Given the description of an element on the screen output the (x, y) to click on. 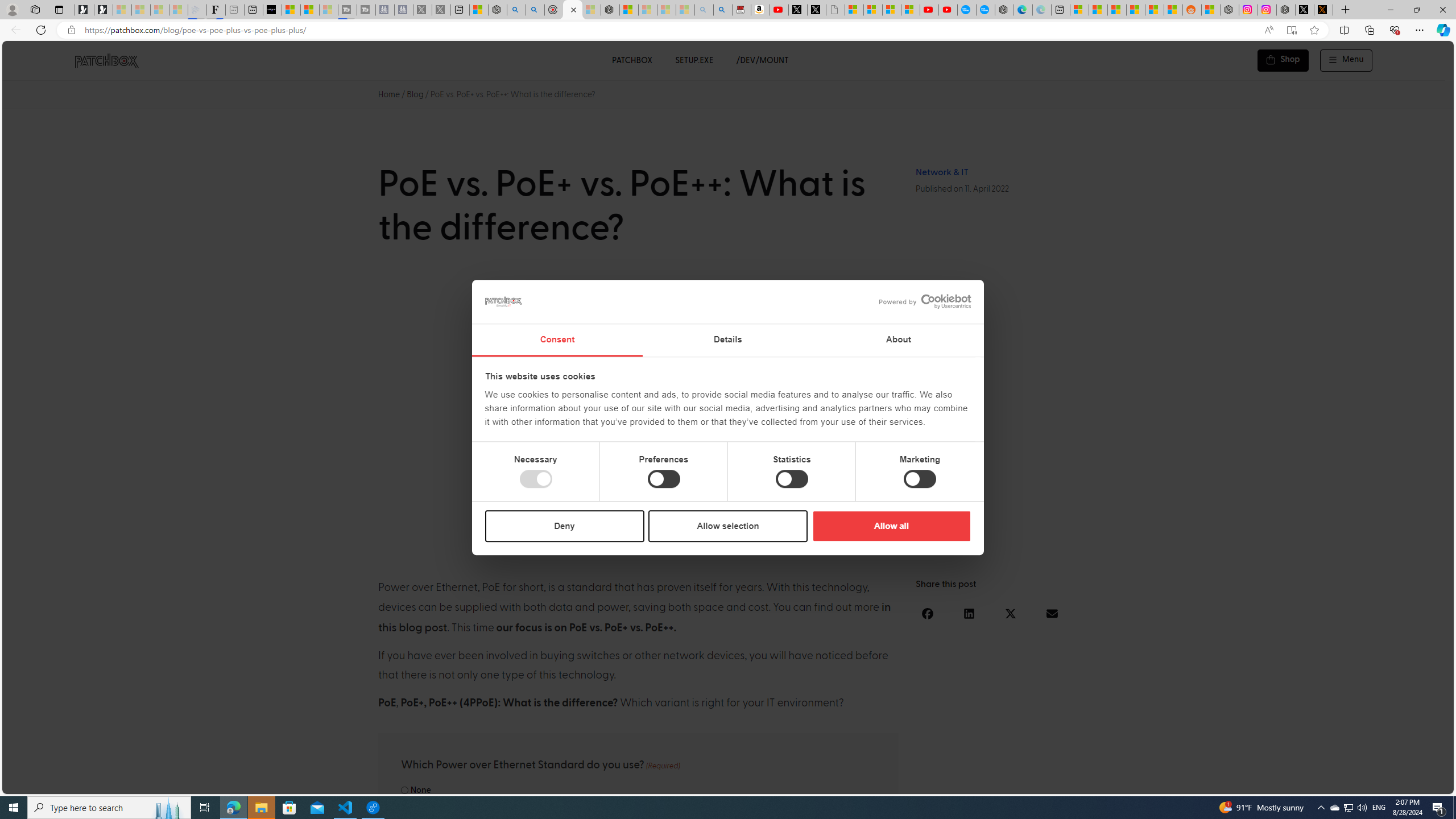
Streaming Coverage | T3 - Sleeping (347, 9)
Allow all (890, 525)
YouTube Kids - An App Created for Kids to Explore Content (947, 9)
/DEV/MOUNT (762, 60)
Language switcher : Norwegian (1288, 782)
Enter Immersive Reader (F9) (1291, 29)
SETUP.EXE (694, 60)
Language switcher : Danish (1311, 782)
None (403, 790)
Language switcher : Finnish (1391, 782)
